Given the description of an element on the screen output the (x, y) to click on. 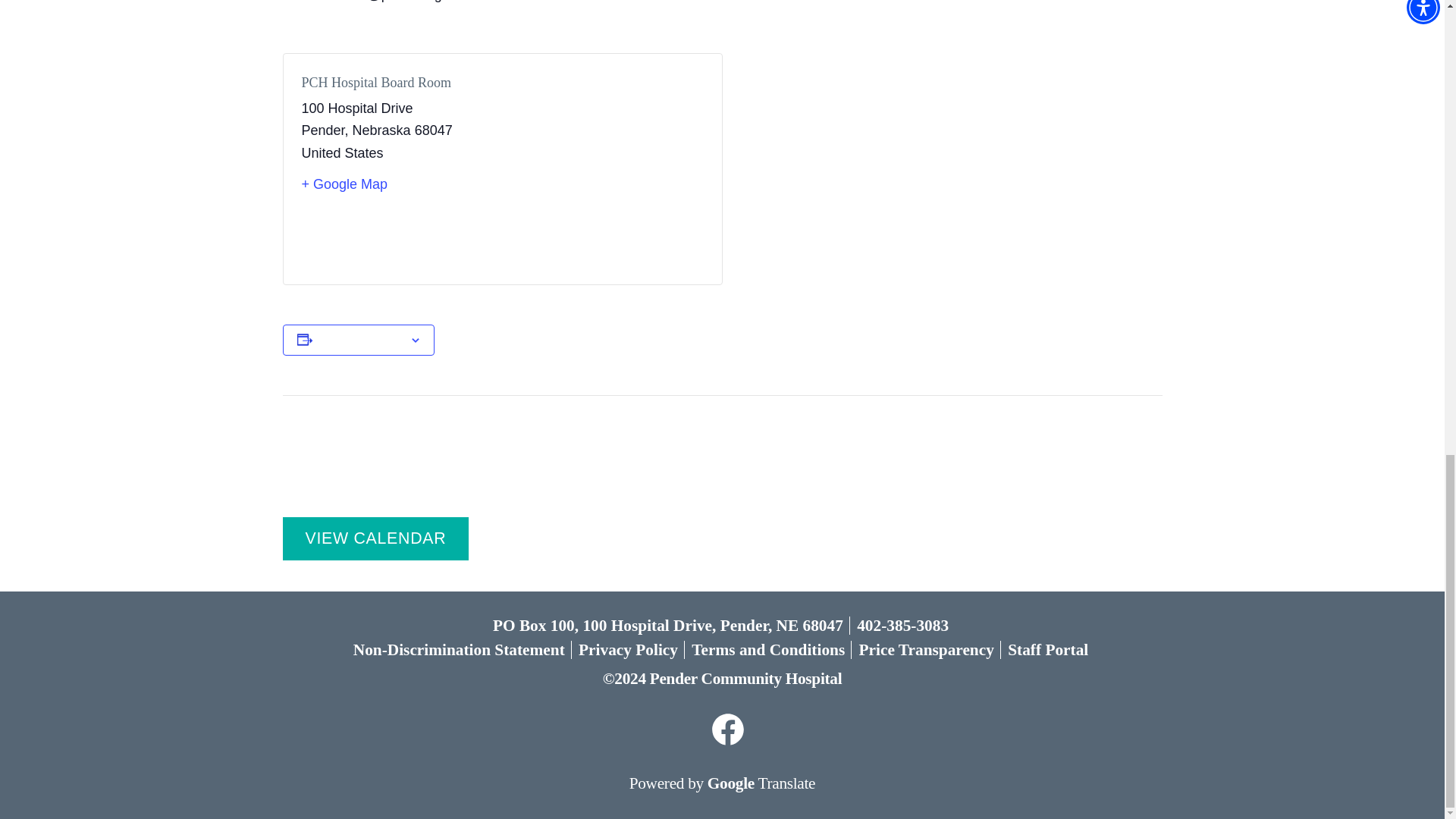
Nebraska (381, 130)
PCH Hospital Board Room (376, 82)
Click to view a Google Map (395, 184)
